Given the description of an element on the screen output the (x, y) to click on. 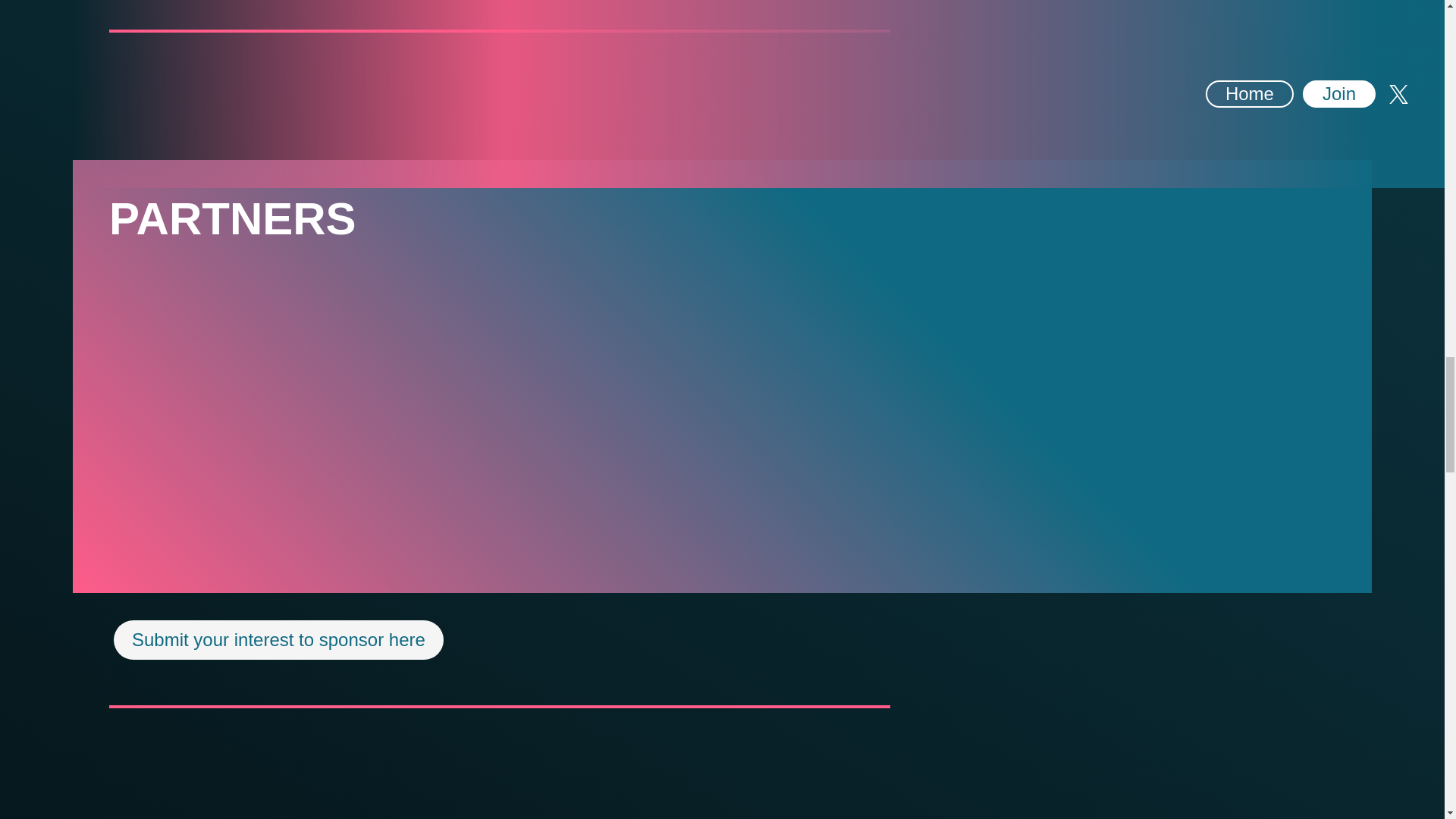
Submit your interest to sponsor here (278, 639)
Submit your interest to sponsor here (278, 639)
